Given the description of an element on the screen output the (x, y) to click on. 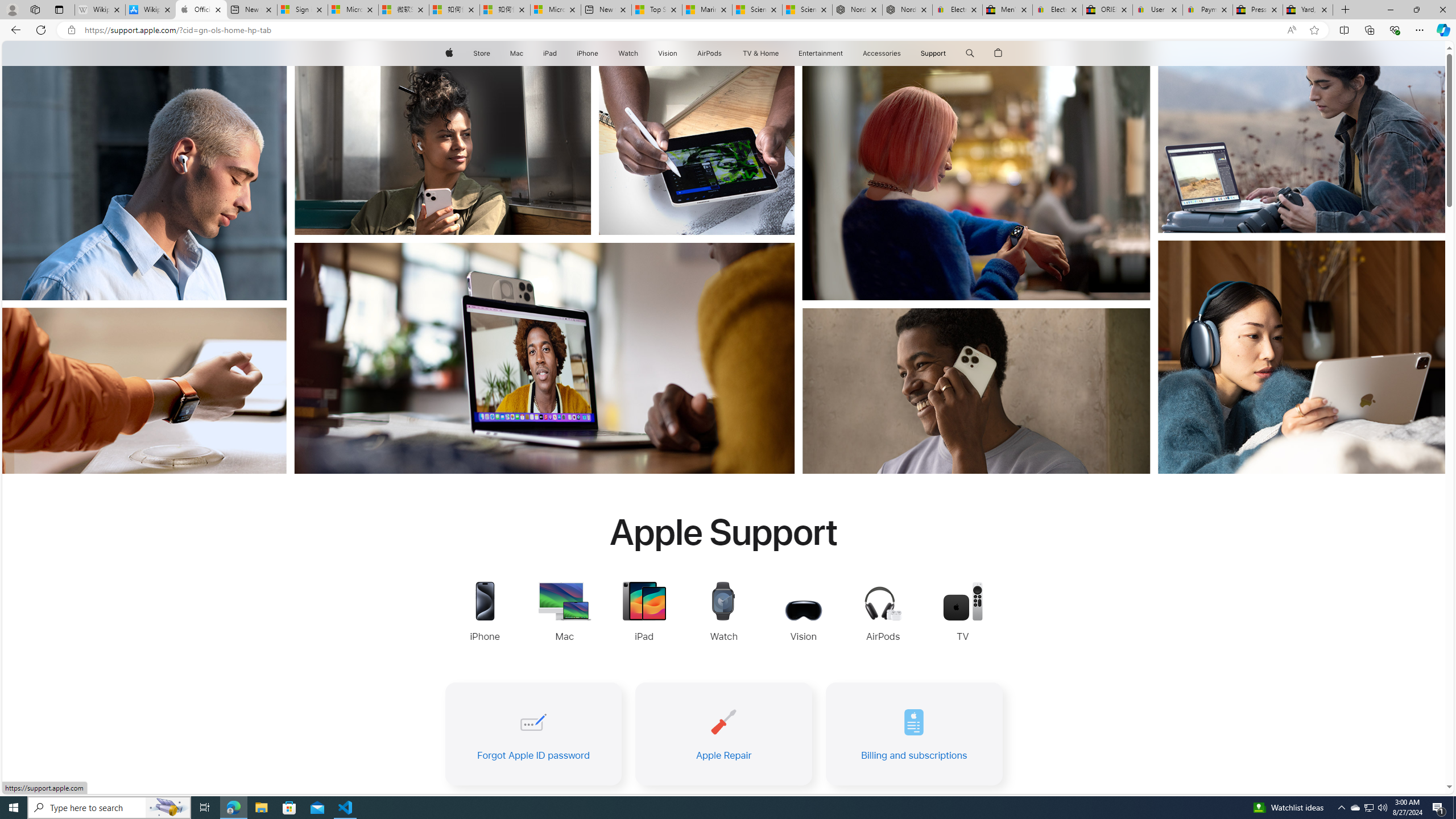
Mac (516, 53)
Entertainment (820, 53)
AirPods Support (882, 615)
TV Support (962, 612)
Support (932, 53)
Mac menu (524, 53)
AirPods (709, 53)
Class: globalnav-submenu-trigger-item (948, 53)
iPad menu (557, 53)
iPhone (587, 53)
TV & Home (759, 53)
Accessories menu (903, 53)
